Given the description of an element on the screen output the (x, y) to click on. 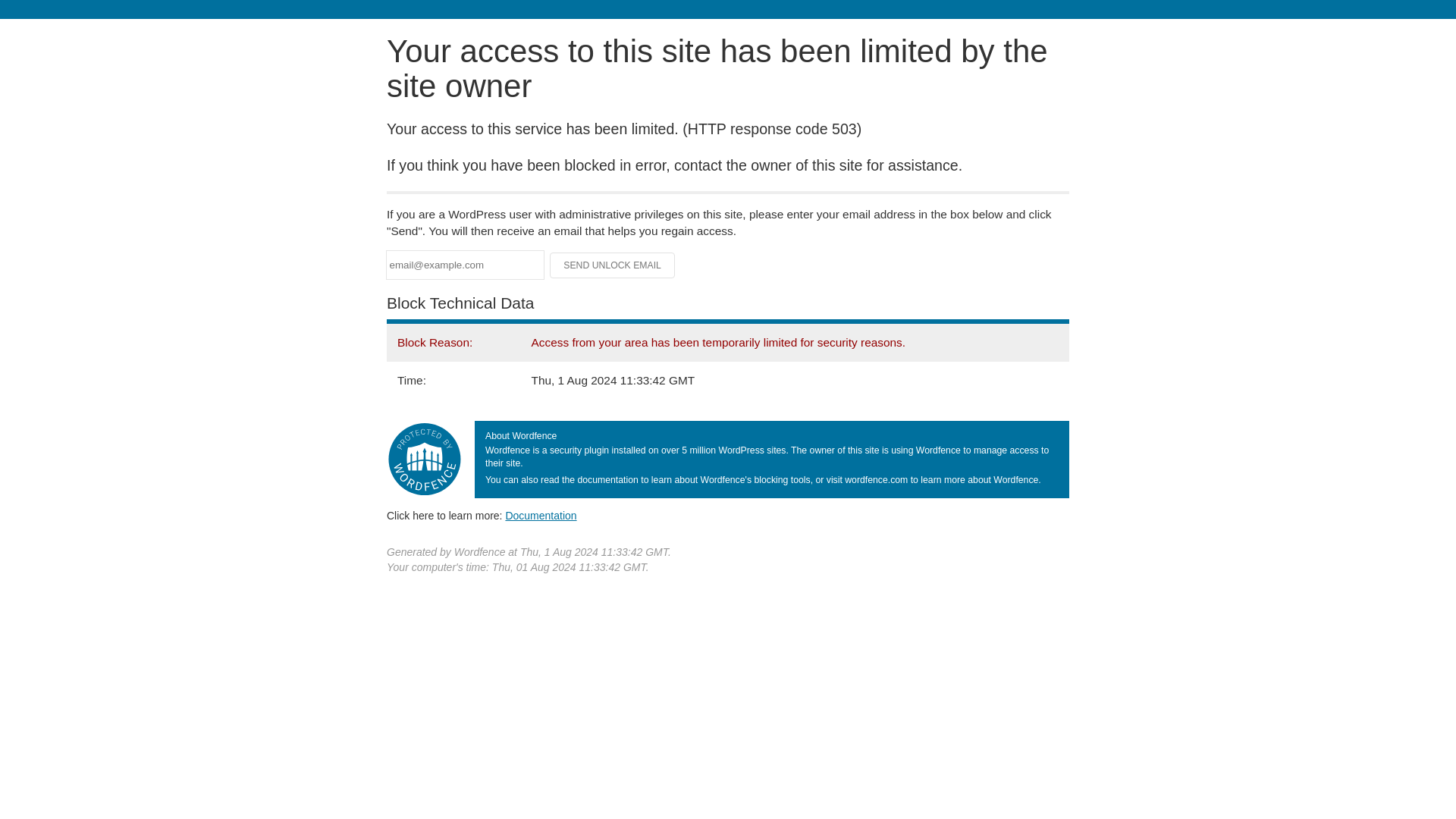
Documentation (540, 515)
Send Unlock Email (612, 265)
Send Unlock Email (612, 265)
